Given the description of an element on the screen output the (x, y) to click on. 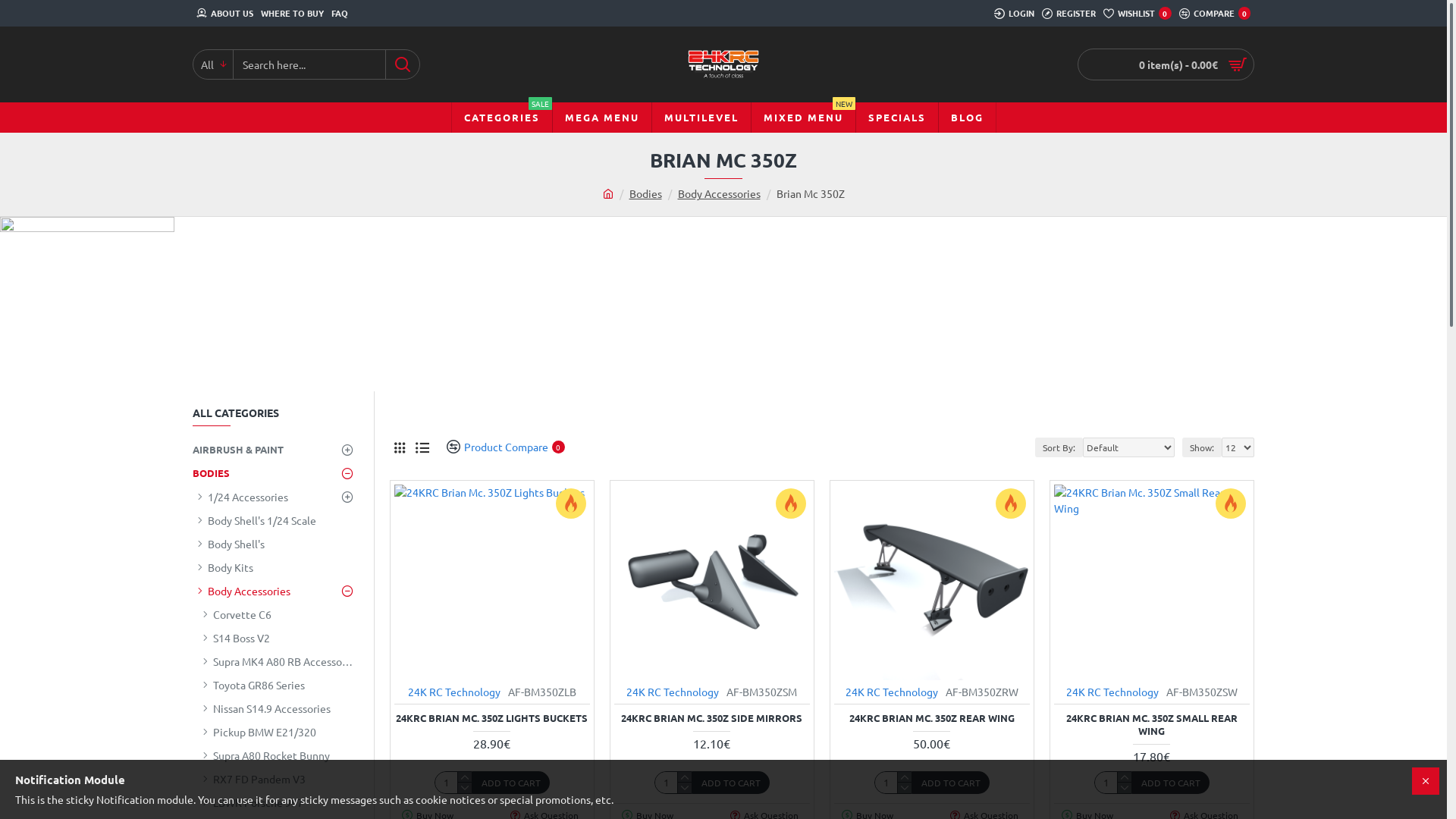
RX7 FD Pandem V3 Element type: text (275, 778)
ADD TO CART Element type: text (1170, 782)
Body Accessories Element type: text (275, 590)
LOGIN Element type: text (1014, 13)
Body Kits Element type: text (275, 567)
Body Shell's 1/24 Scale Element type: text (275, 520)
24K RC Technology Element type: text (891, 691)
ADD TO CART Element type: text (510, 782)
24KRC Brian Mc. 350Z Small Rear Wing Element type: hover (1151, 582)
Brian Mc 350Z Element type: text (810, 193)
ABOUT US Element type: text (224, 13)
24KRC Technology Element type: hover (722, 64)
S14 Boss V2 Element type: text (275, 637)
BODIES Element type: text (275, 473)
Supra A80 Rocket Bunny Element type: text (275, 755)
MEGA MENU Element type: text (601, 117)
FAQ Element type: text (339, 13)
MIXED MENU
NEW Element type: text (802, 117)
Toyota GR86 Series Element type: text (275, 684)
CATEGORIES
SALE Element type: text (501, 117)
COMPARE
0 Element type: text (1215, 13)
Nissan S14.9 Accessories Element type: text (275, 708)
24K RC Technology Element type: text (453, 691)
24KRC BRIAN MC. 350Z SIDE MIRRORS Element type: text (711, 718)
24KRC BRIAN MC. 350Z LIGHTS BUCKETS Element type: text (491, 718)
24K RC Technology Element type: text (672, 691)
WHERE TO BUY Element type: text (292, 13)
AIRBRUSH & PAINT Element type: text (275, 449)
24K RC Technology Element type: text (1112, 691)
Product Compare
0 Element type: text (499, 446)
24KRC Brian Mc. 350Z Lights Buckets Element type: hover (491, 582)
BLOG Element type: text (965, 117)
WISHLIST
0 Element type: text (1137, 13)
Body Accessories Element type: text (718, 193)
Bodies Element type: text (645, 193)
Pickup BMW E21/320 Element type: text (275, 731)
Body Shell's Element type: text (275, 543)
24KRC Brian Mc. 350Z Side Mirrors Element type: hover (711, 582)
SPECIALS Element type: text (896, 117)
ADD TO CART Element type: text (730, 782)
Supra MK4 A80 RB Accessories Element type: text (275, 661)
REGISTER Element type: text (1068, 13)
MULTILEVEL Element type: text (699, 117)
24KRC Brian Mc. 350Z Rear Wing Element type: hover (931, 582)
LBWK Porsche 997 Element type: text (275, 802)
ADD TO CART Element type: text (950, 782)
24KRC BRIAN MC. 350Z REAR WING Element type: text (931, 718)
24KRC BRIAN MC. 350Z SMALL REAR WING Element type: text (1151, 724)
Corvette C6 Element type: text (275, 614)
1/24 Accessories Element type: text (275, 496)
